Given the description of an element on the screen output the (x, y) to click on. 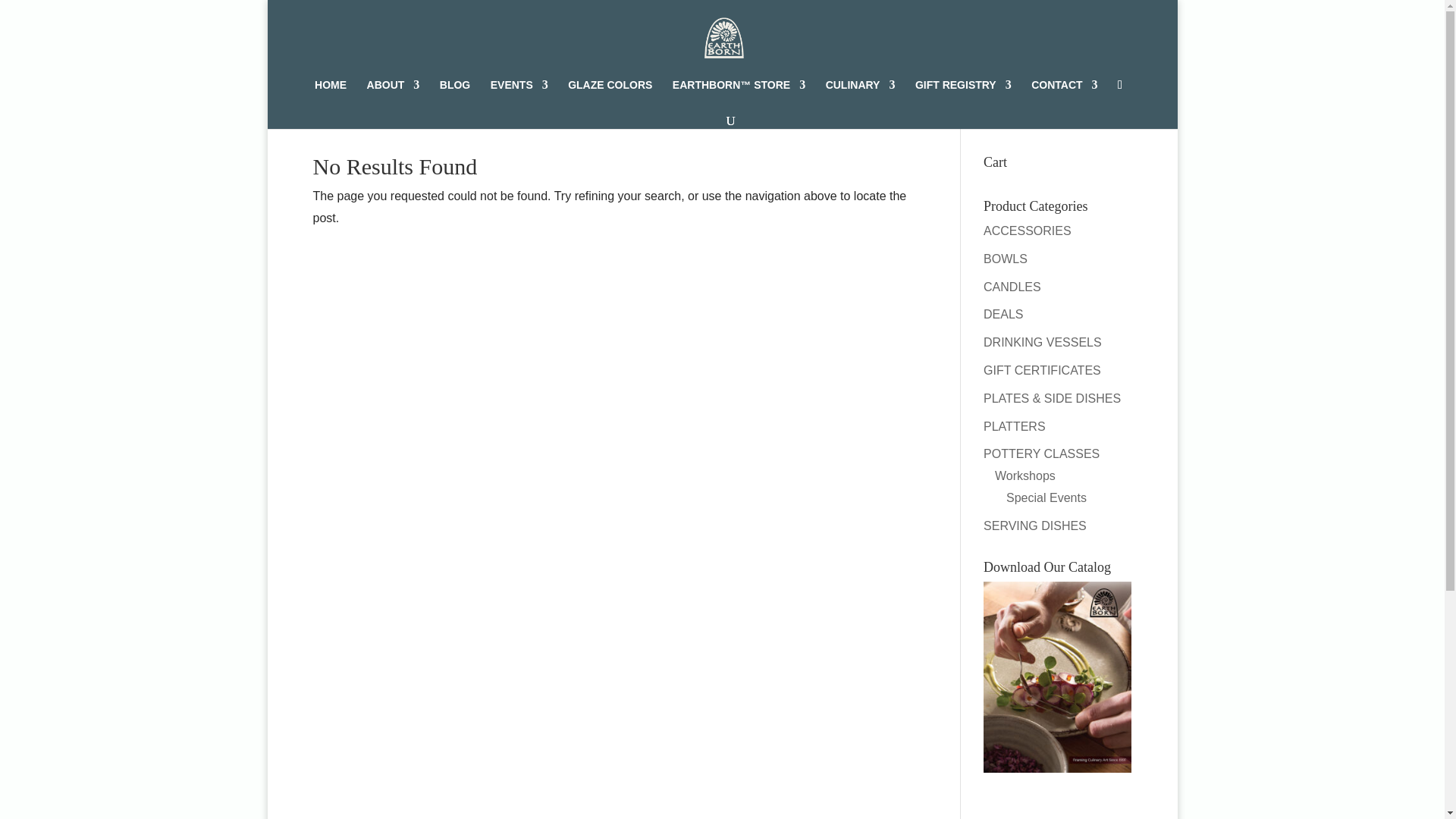
ABOUT (393, 95)
HOME (330, 95)
CULINARY (860, 95)
BLOG (454, 95)
EVENTS (519, 95)
GIFT REGISTRY (963, 95)
GLAZE COLORS (609, 95)
